Given the description of an element on the screen output the (x, y) to click on. 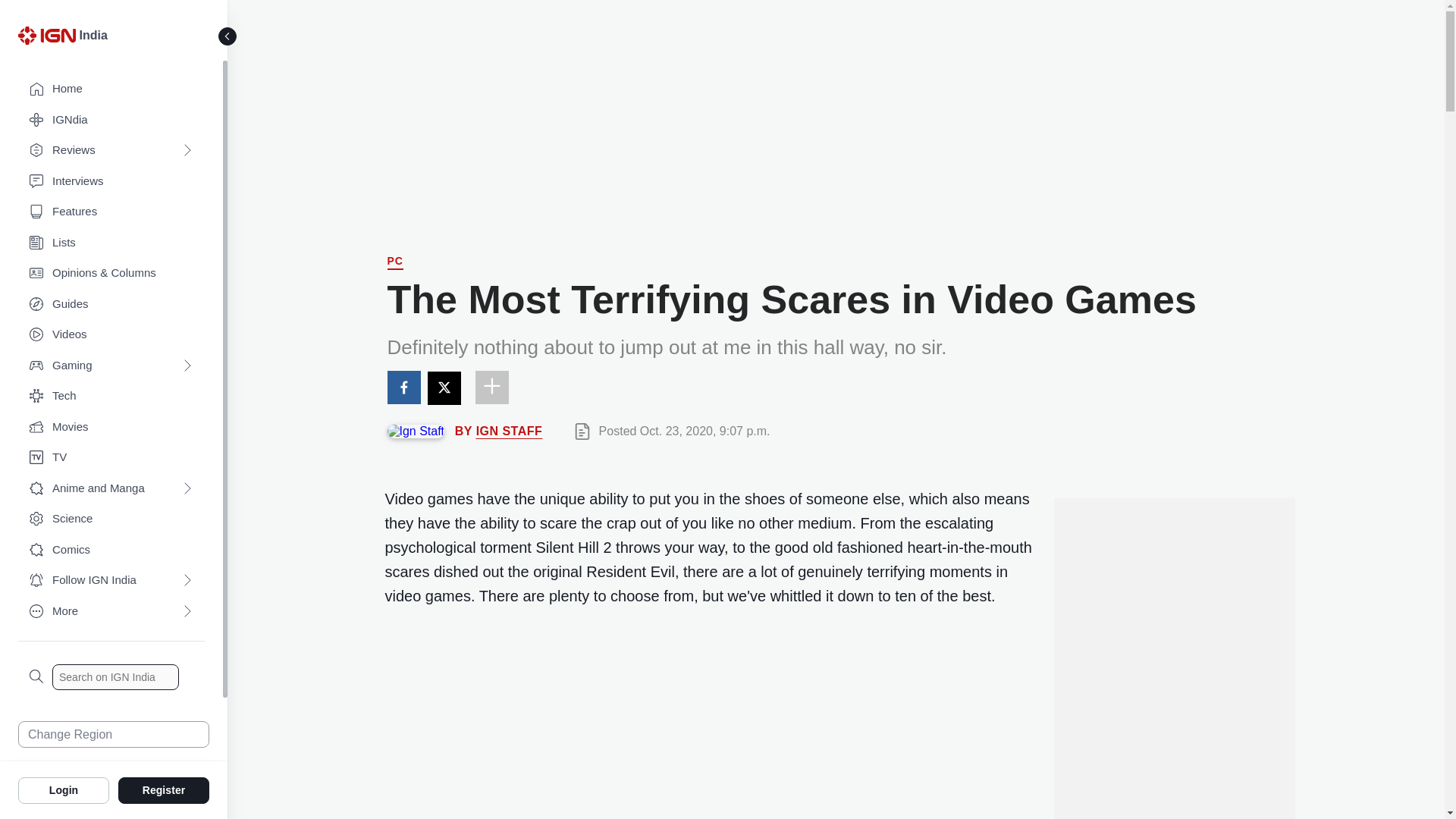
Tech (111, 396)
IGN Logo (48, 39)
Lists (111, 242)
Videos (111, 334)
Science (111, 518)
Guides (111, 304)
Features (111, 211)
PC (395, 262)
TV (111, 457)
More (111, 610)
